Given the description of an element on the screen output the (x, y) to click on. 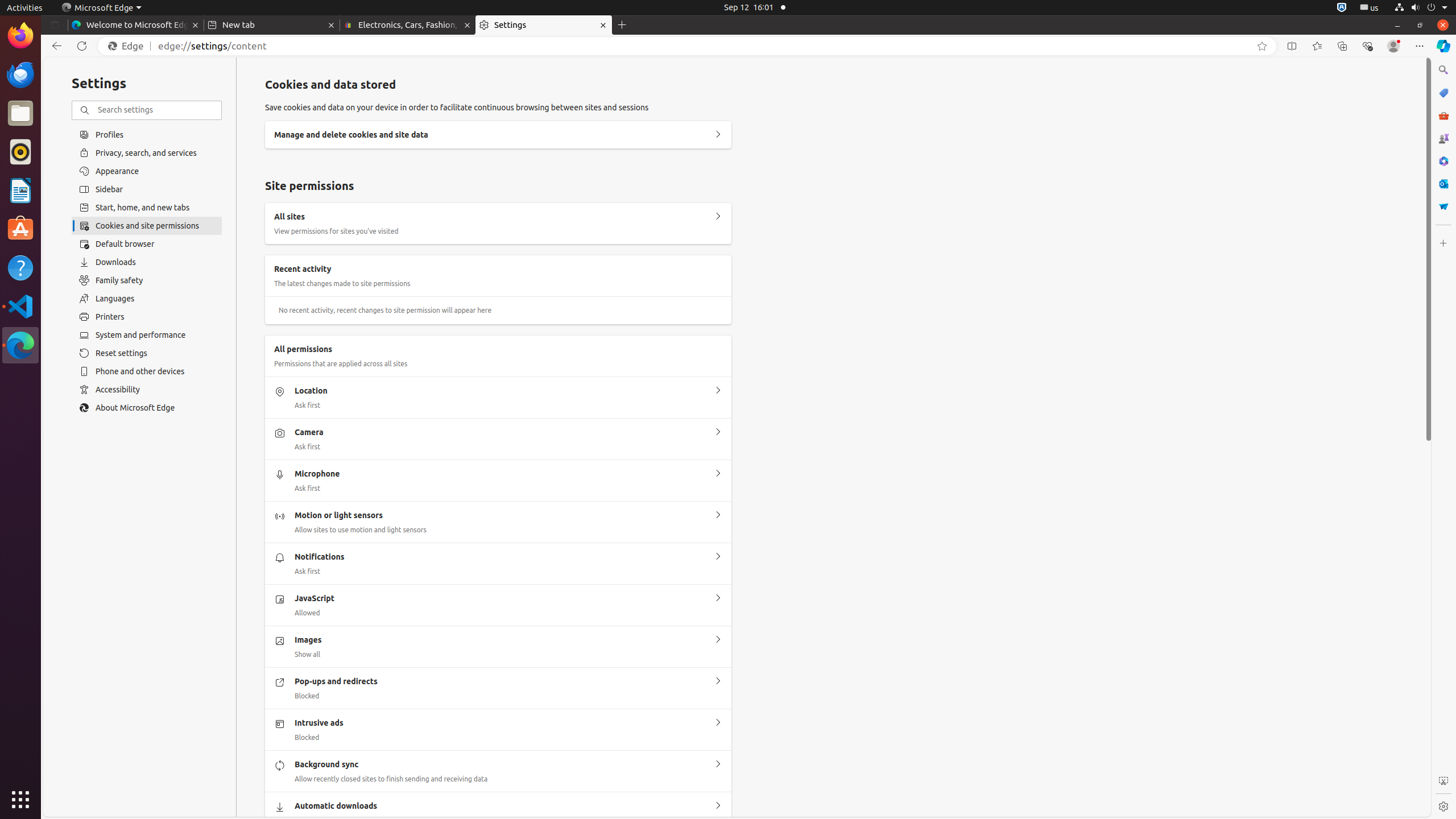
Edge Element type: push-button (128, 46)
Customize Element type: push-button (1443, 243)
Settings Element type: page-tab (543, 25)
About Microsoft Edge Element type: tree-item (146, 407)
System Element type: menu (1420, 7)
